Given the description of an element on the screen output the (x, y) to click on. 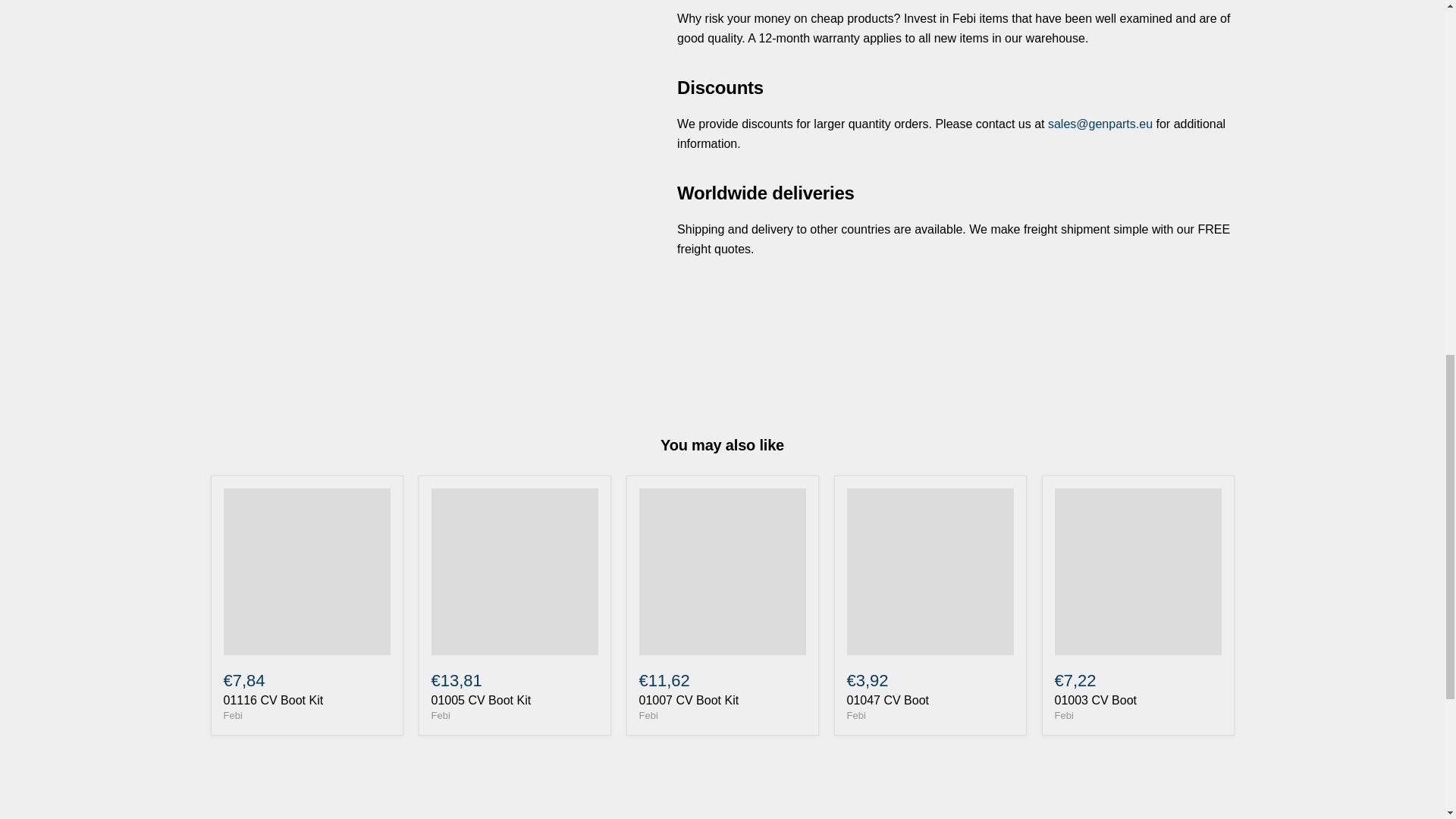
Febi (231, 715)
Febi (854, 715)
Please send an email (1100, 123)
Febi (648, 715)
Febi (439, 715)
Febi (1063, 715)
